Given the description of an element on the screen output the (x, y) to click on. 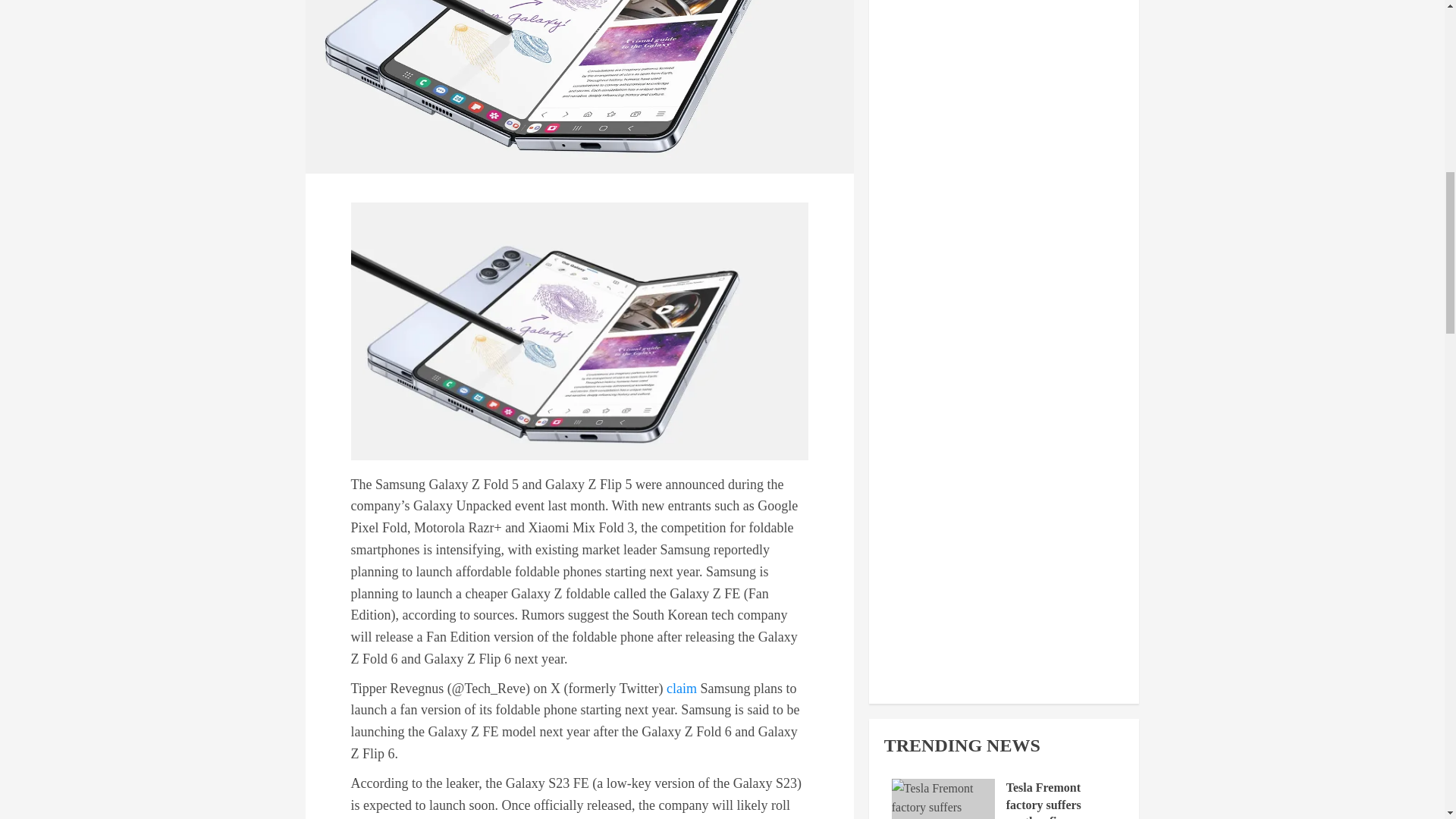
Private deals for mansions, art and cars on the rise (942, 649)
Dodge, Ram boss Tim Kuniskis to retire from Stellantis (942, 767)
